Given the description of an element on the screen output the (x, y) to click on. 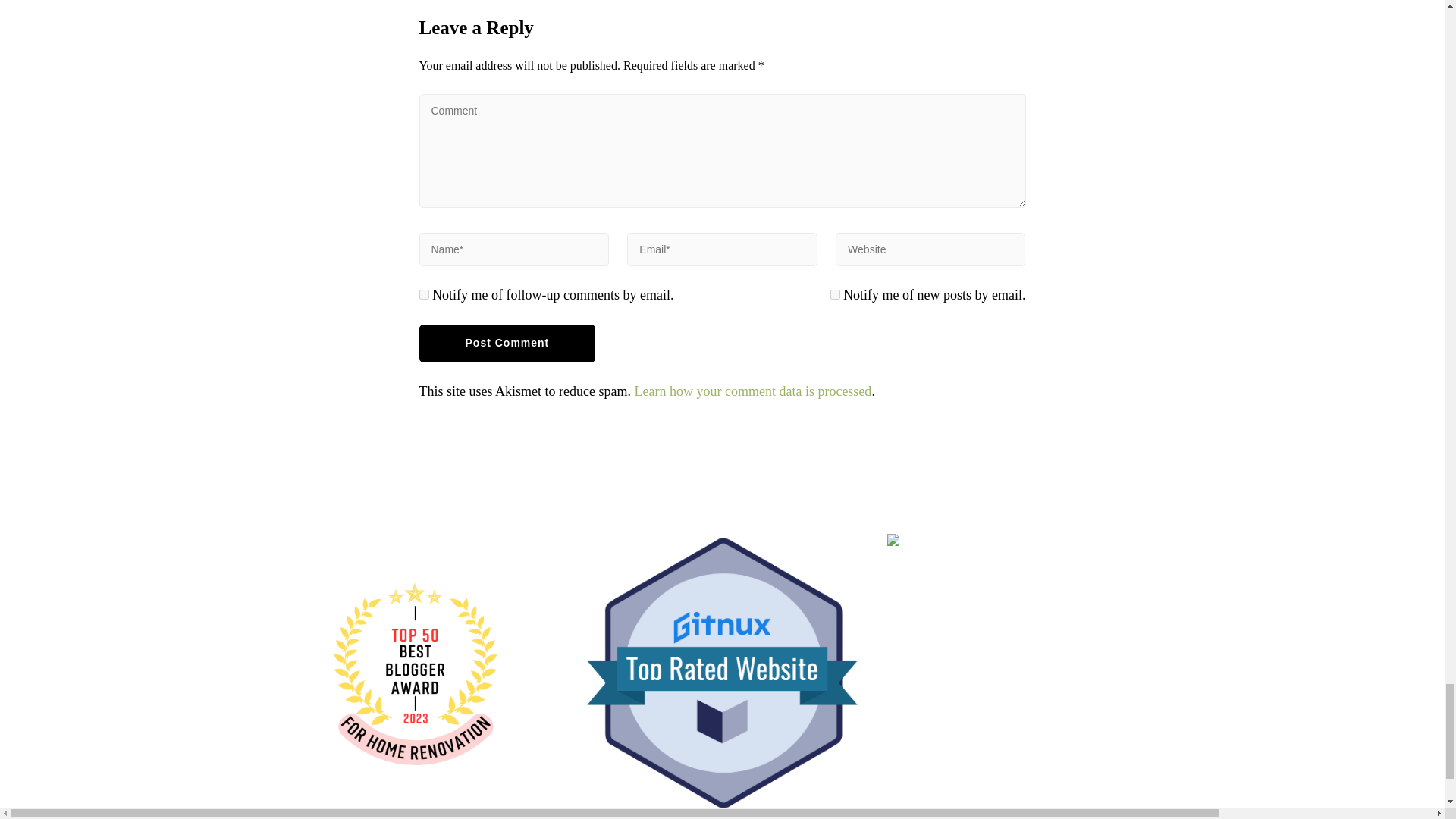
subscribe (423, 294)
subscribe (834, 294)
Post Comment (507, 343)
